Given the description of an element on the screen output the (x, y) to click on. 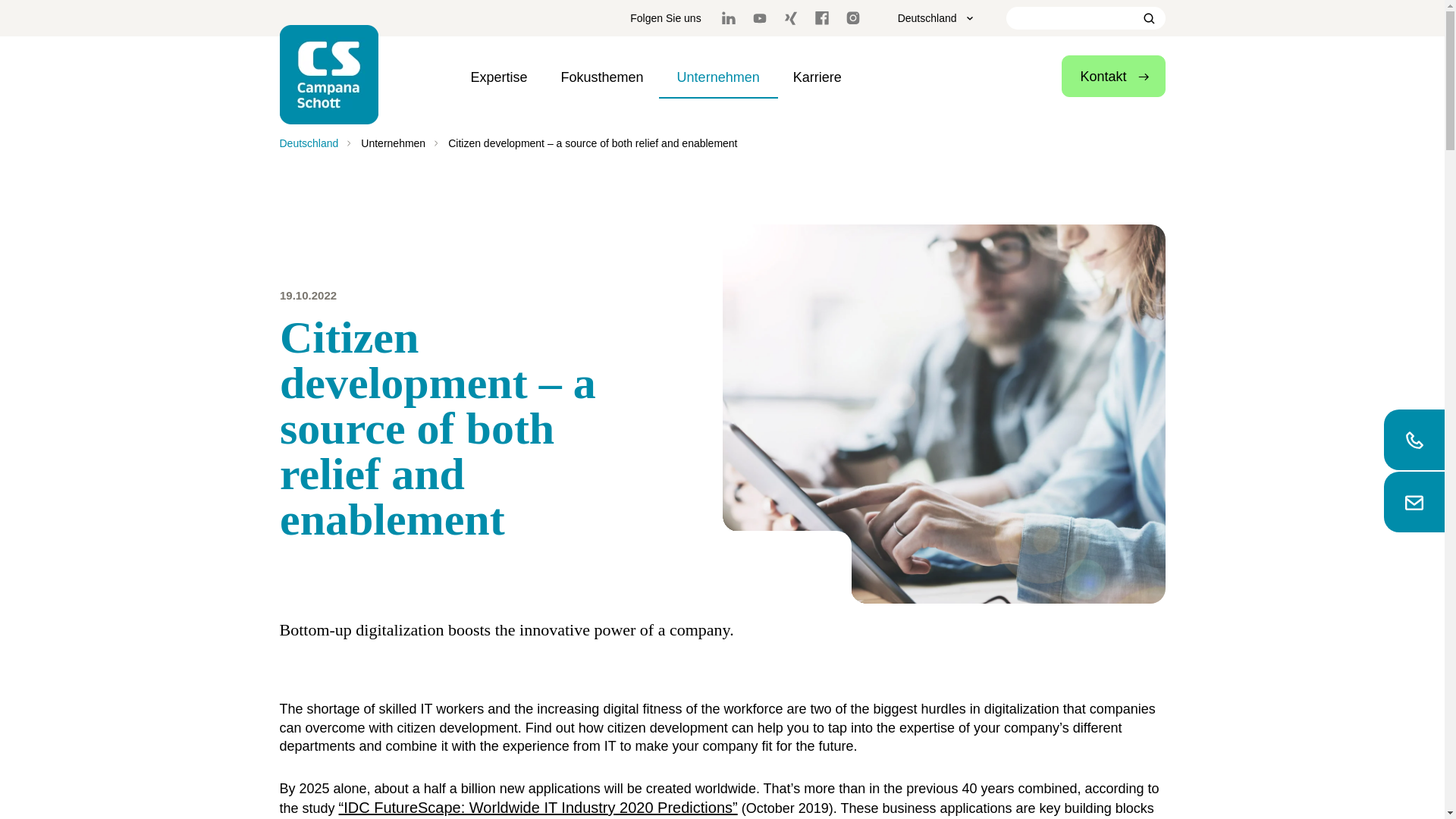
Expertise (498, 76)
Expertise (498, 76)
Zur Startseite (328, 74)
